Given the description of an element on the screen output the (x, y) to click on. 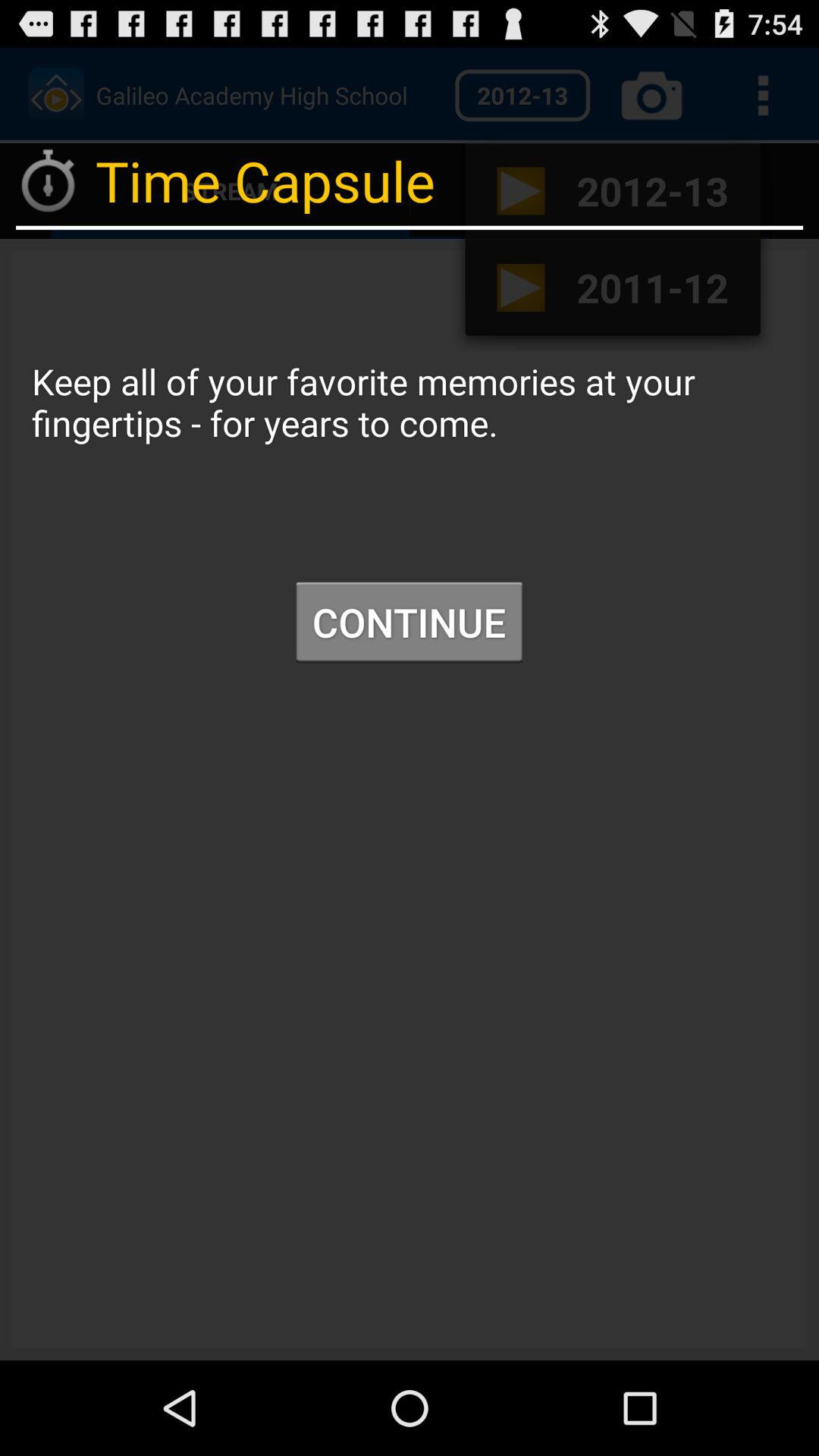
swipe to the continue (409, 621)
